Given the description of an element on the screen output the (x, y) to click on. 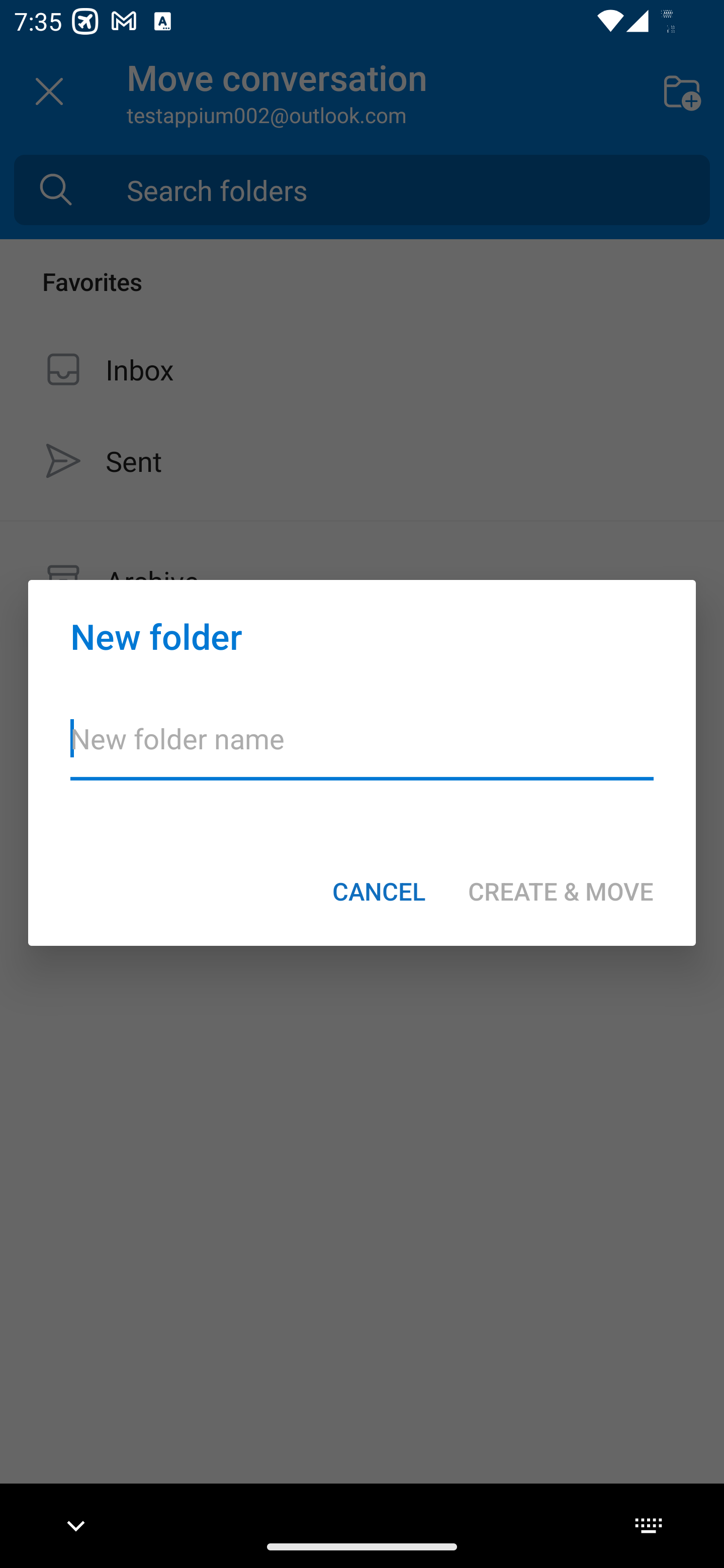
New folder name (361, 750)
CANCEL (378, 891)
CREATE & MOVE (560, 891)
